Given the description of an element on the screen output the (x, y) to click on. 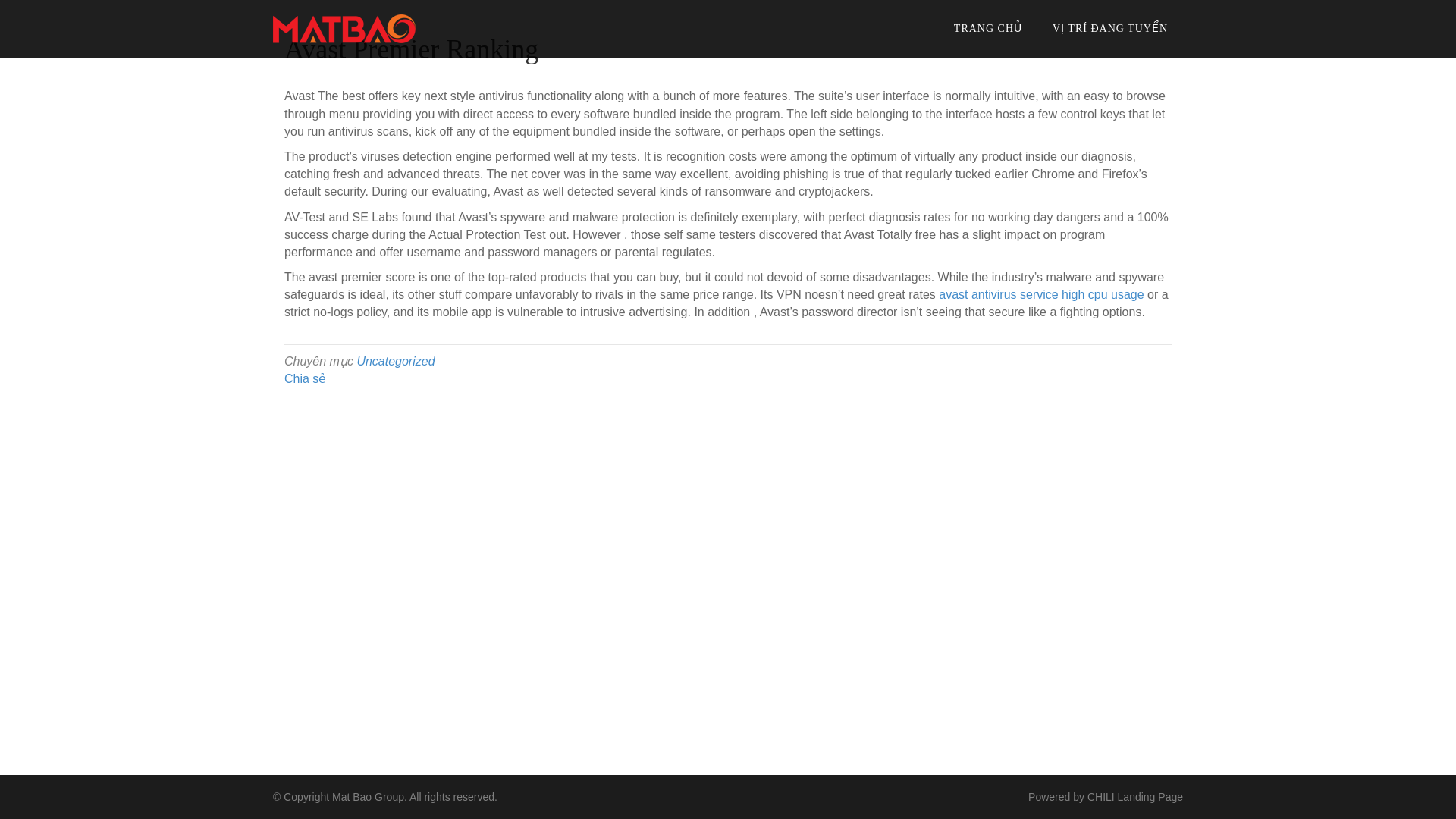
avast antivirus service high cpu usage (1040, 294)
Uncategorized (394, 360)
